Given the description of an element on the screen output the (x, y) to click on. 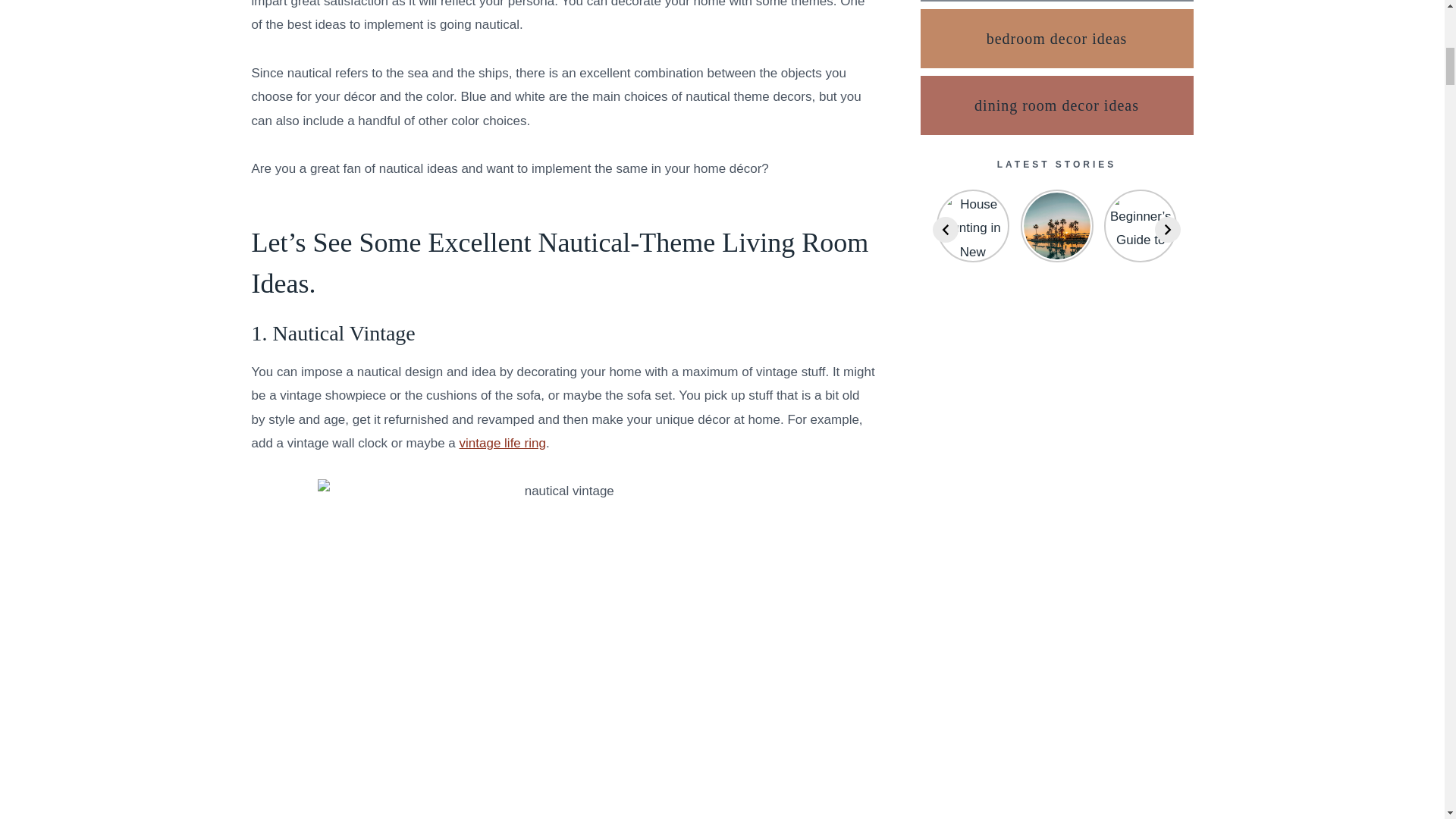
vintage life ring (503, 442)
